Given the description of an element on the screen output the (x, y) to click on. 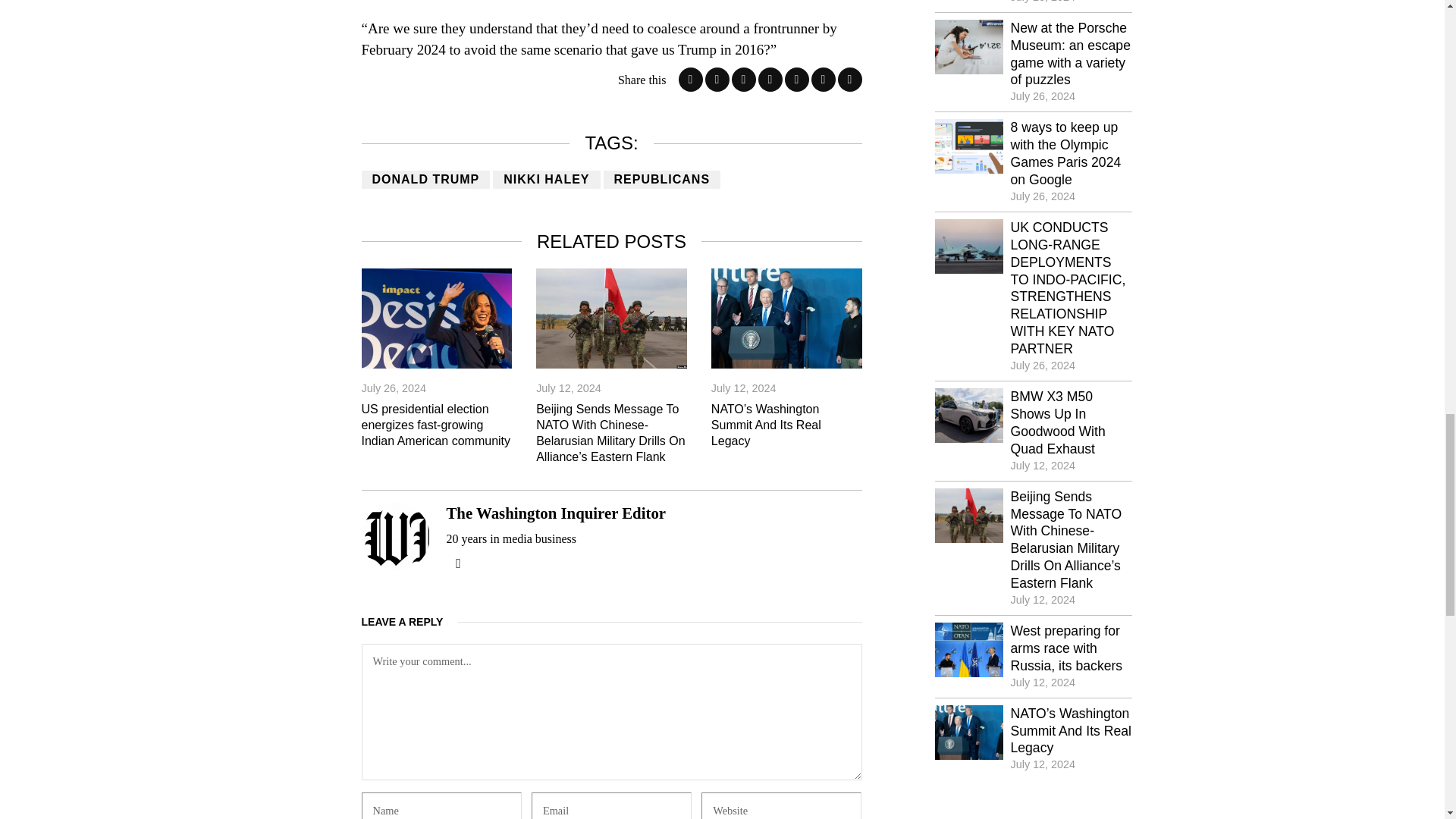
12 Jul, 2024 17:52:18 (743, 387)
12 Jul, 2024 17:16:30 (568, 387)
26 Jul, 2024 17:44:59 (1042, 365)
12 Jul, 2024 17:16:30 (1042, 599)
26 Jul, 2024 18:29:36 (393, 387)
26 Jul, 2024 18:20:12 (1042, 196)
26 Jul, 2024 18:29:36 (1042, 2)
12 Jul, 2024 17:03:35 (1042, 465)
26 Jul, 2024 18:29:24 (1042, 96)
